Given the description of an element on the screen output the (x, y) to click on. 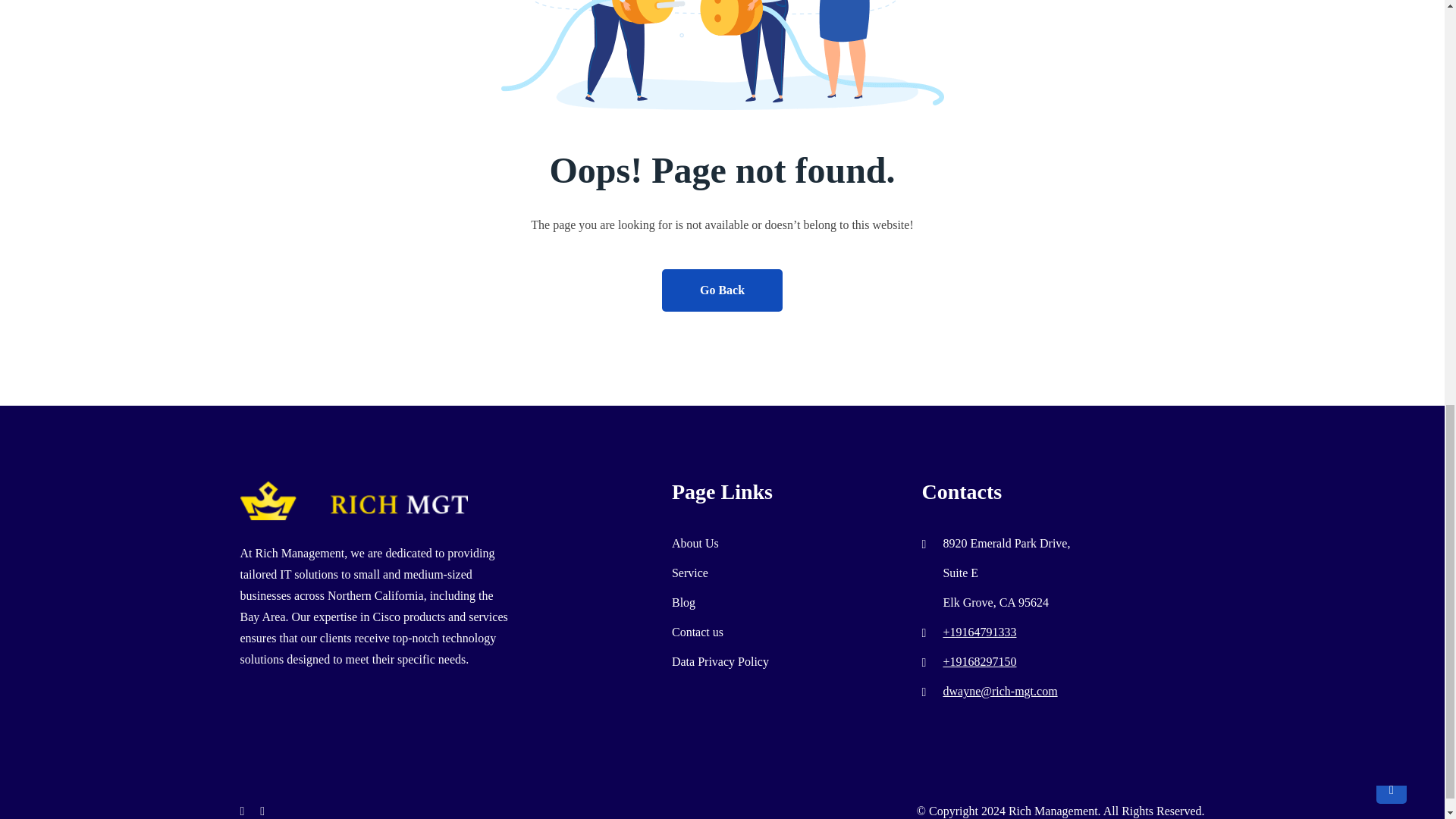
Service (689, 572)
About Us (695, 543)
Contact us (697, 631)
Data Privacy Policy (719, 661)
Go Back (722, 290)
Blog (683, 602)
Restly - Footer One 1 (353, 500)
